Given the description of an element on the screen output the (x, y) to click on. 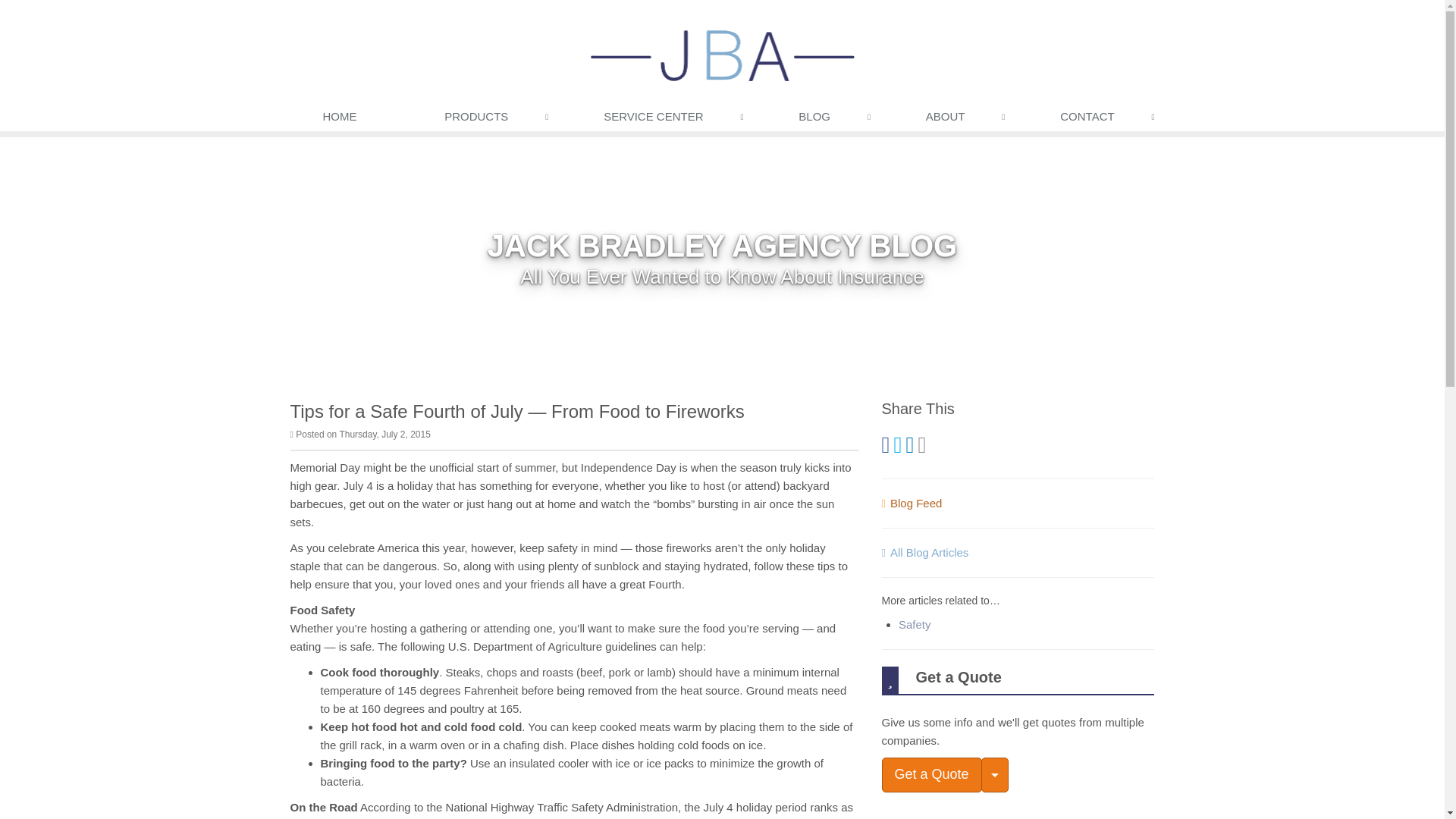
Get a Quote (930, 774)
All Blog Articles (924, 552)
HOME (340, 119)
SERVICE CENTER (656, 119)
PRODUCTS (479, 119)
Safety (914, 624)
CONTACT (1091, 119)
ABOUT (949, 119)
Blog Feed (911, 502)
BLOG (817, 119)
